Given the description of an element on the screen output the (x, y) to click on. 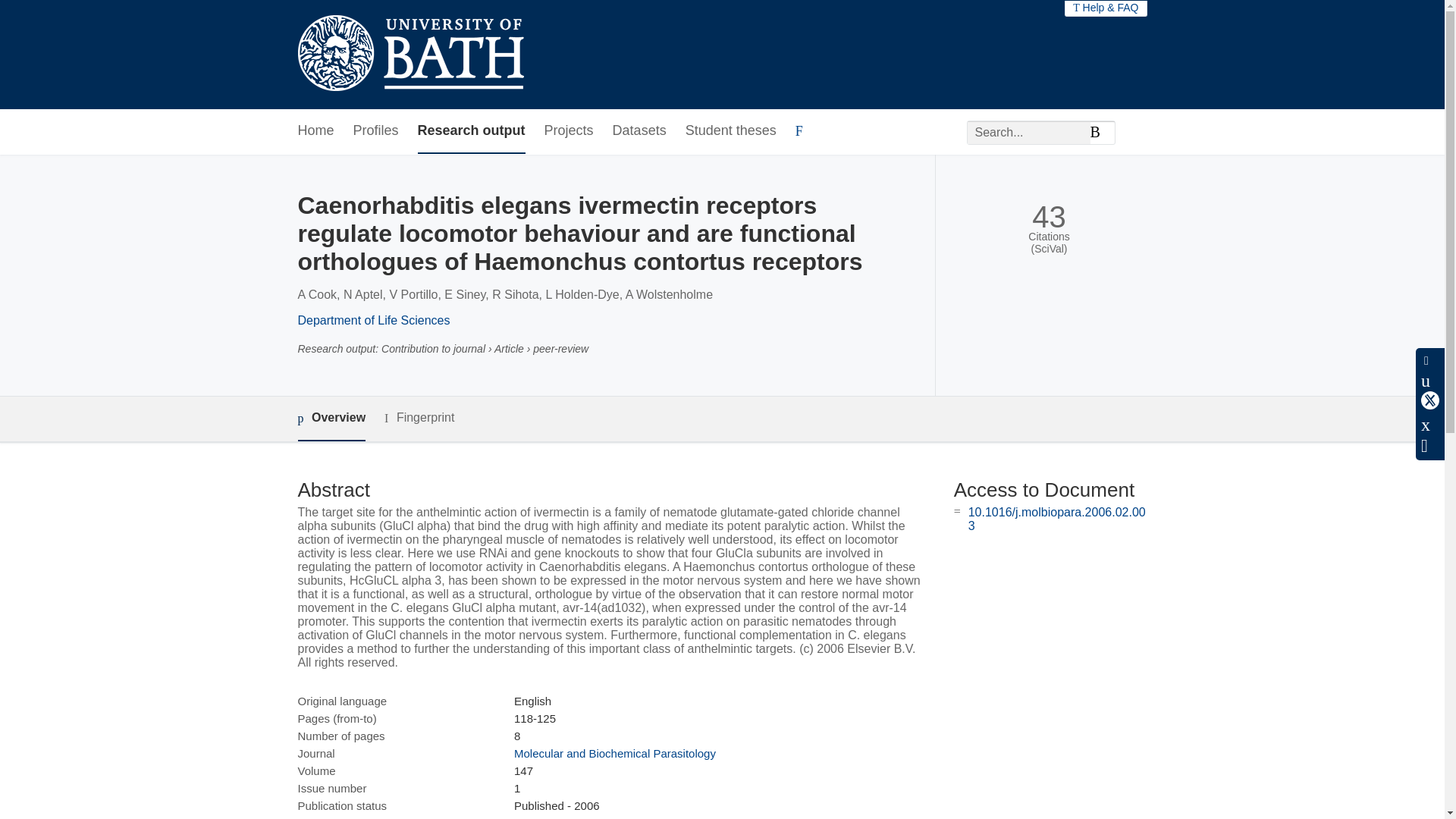
Department of Life Sciences (373, 319)
Fingerprint (419, 417)
Research output (471, 130)
Student theses (730, 130)
Projects (569, 130)
Molecular and Biochemical Parasitology (614, 753)
Overview (331, 418)
Datasets (639, 130)
the University of Bath's research portal Home (409, 54)
Profiles (375, 130)
